Given the description of an element on the screen output the (x, y) to click on. 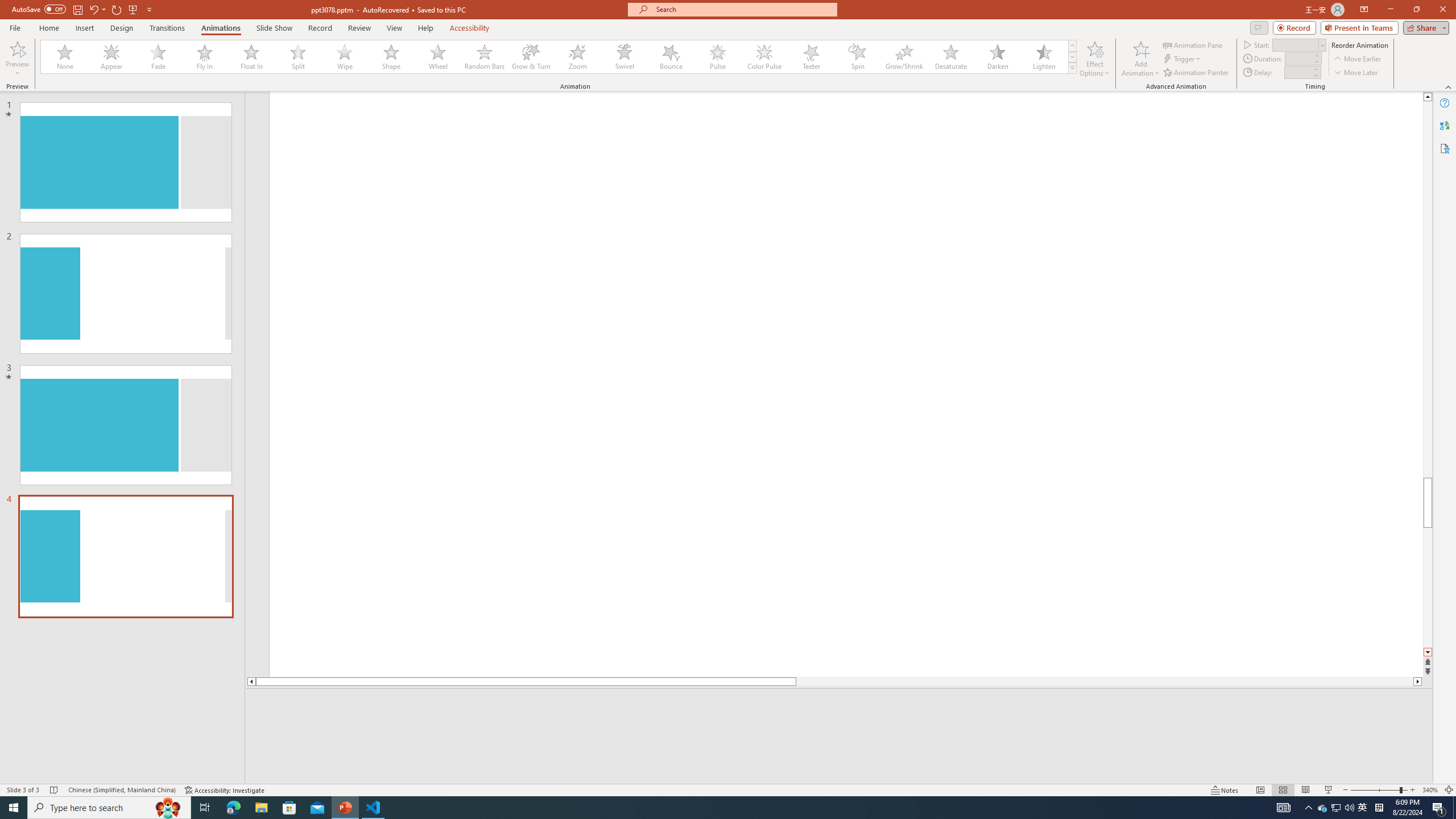
Pulse (717, 56)
Random Bars (484, 56)
